Given the description of an element on the screen output the (x, y) to click on. 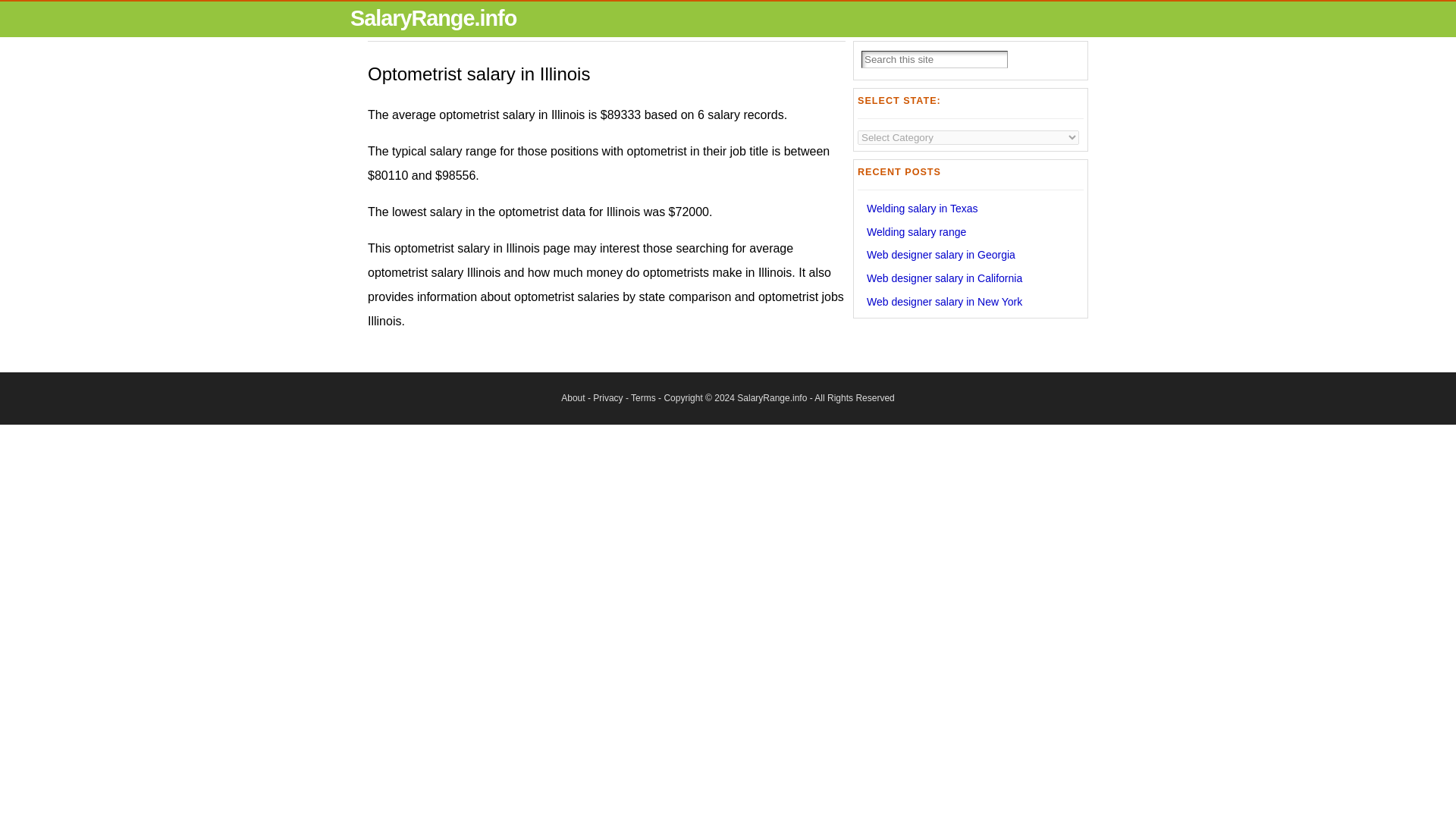
Web designer salary in Georgia (940, 254)
Welding salary in Texas (922, 208)
SalaryRange.info (771, 398)
About (572, 398)
Welding salary range (916, 232)
Terms (643, 398)
SalaryRange.info (433, 17)
Web designer salary in California (944, 277)
Search this site (934, 58)
Privacy (607, 398)
